Given the description of an element on the screen output the (x, y) to click on. 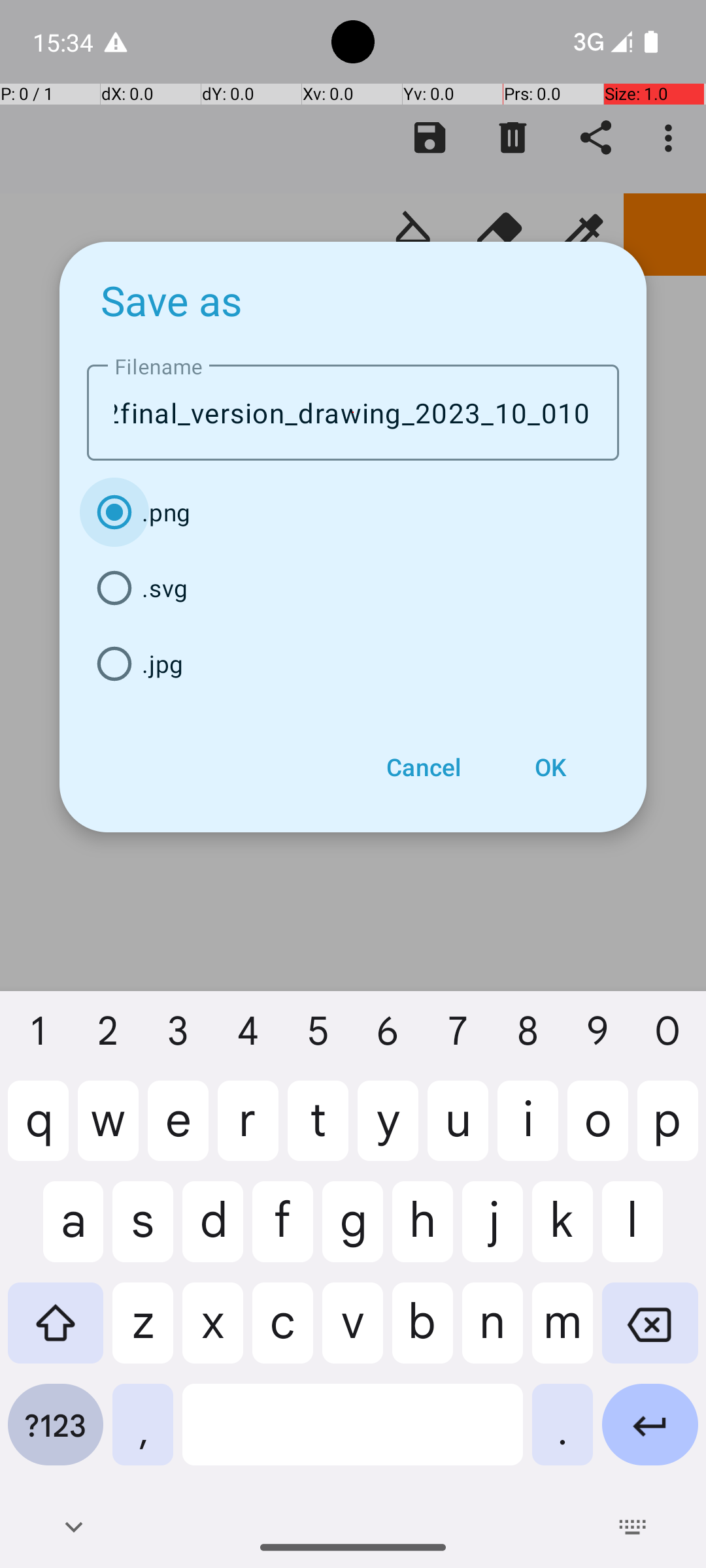
Save as Element type: android.widget.TextView (171, 299)
image_2023_10_1image_draw_2final_version_drawing_2023_10_01023_final_version5_15_34_07 Element type: android.widget.EditText (352, 412)
.png Element type: android.widget.RadioButton (352, 512)
.svg Element type: android.widget.RadioButton (352, 587)
.jpg Element type: android.widget.RadioButton (352, 663)
